Given the description of an element on the screen output the (x, y) to click on. 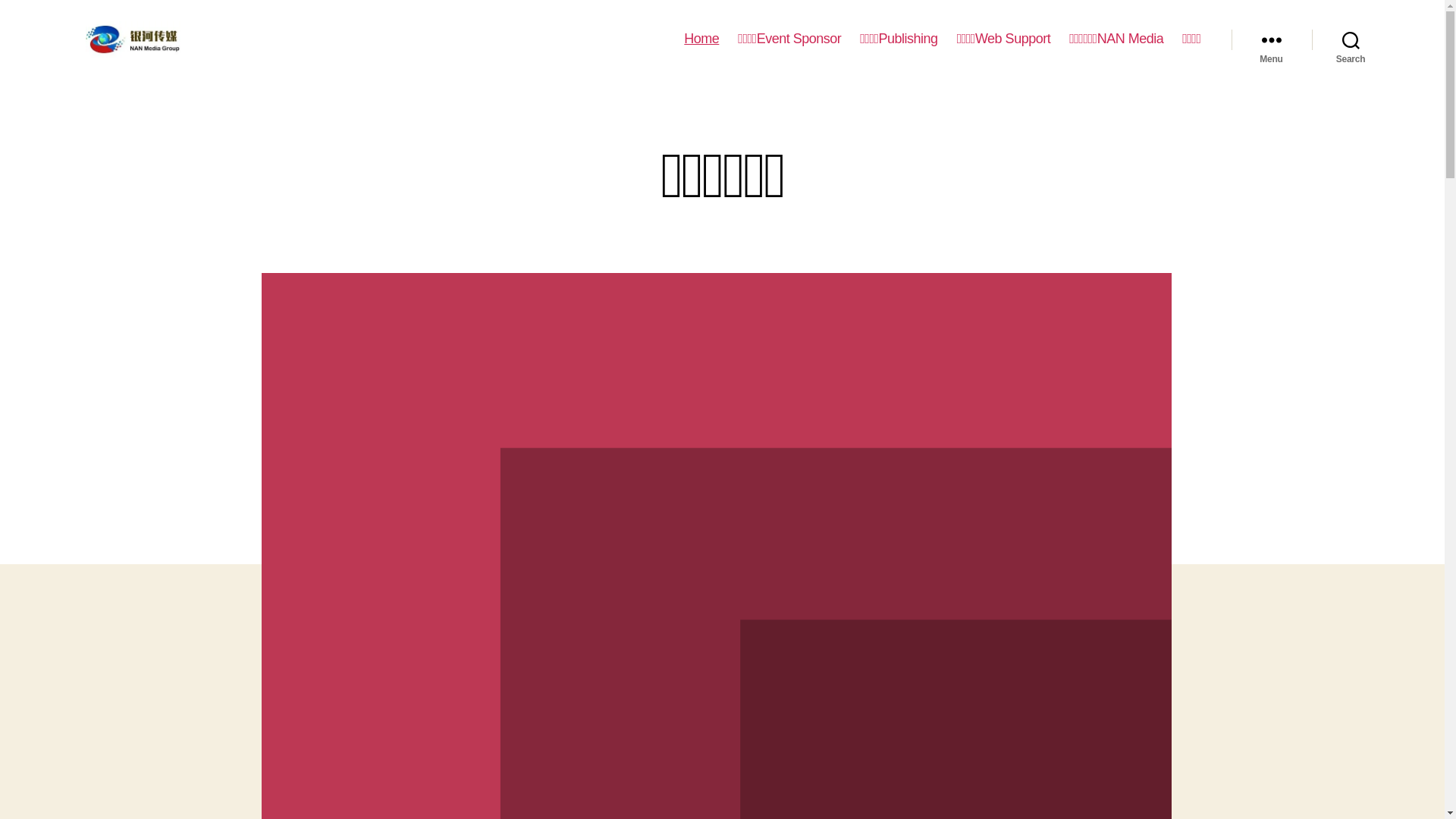
Home Element type: text (701, 39)
Search Element type: text (1350, 39)
Menu Element type: text (1271, 39)
